Given the description of an element on the screen output the (x, y) to click on. 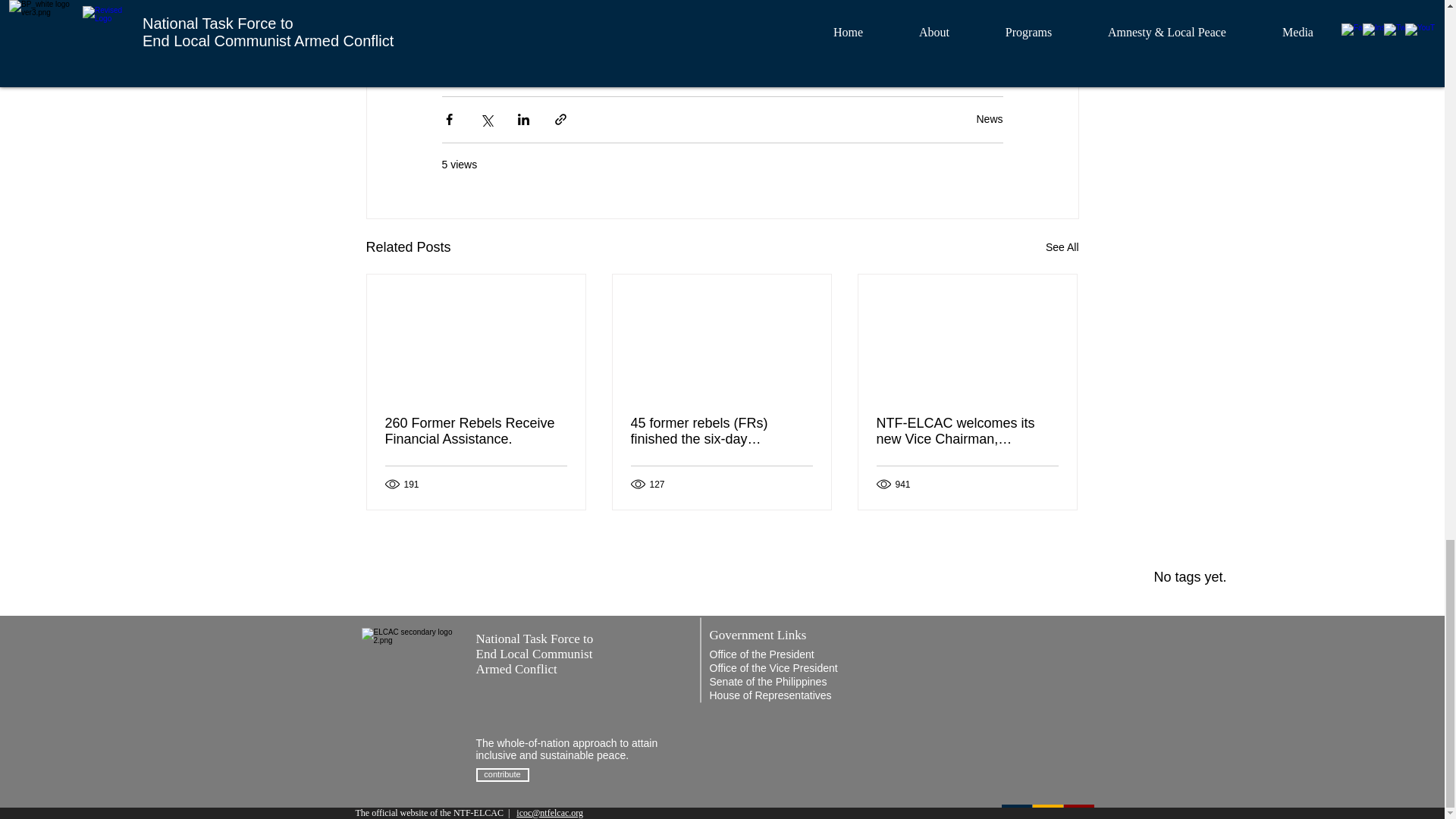
260 Former Rebels Receive Financial Assistance. (476, 431)
News (989, 119)
See All (1061, 247)
